Given the description of an element on the screen output the (x, y) to click on. 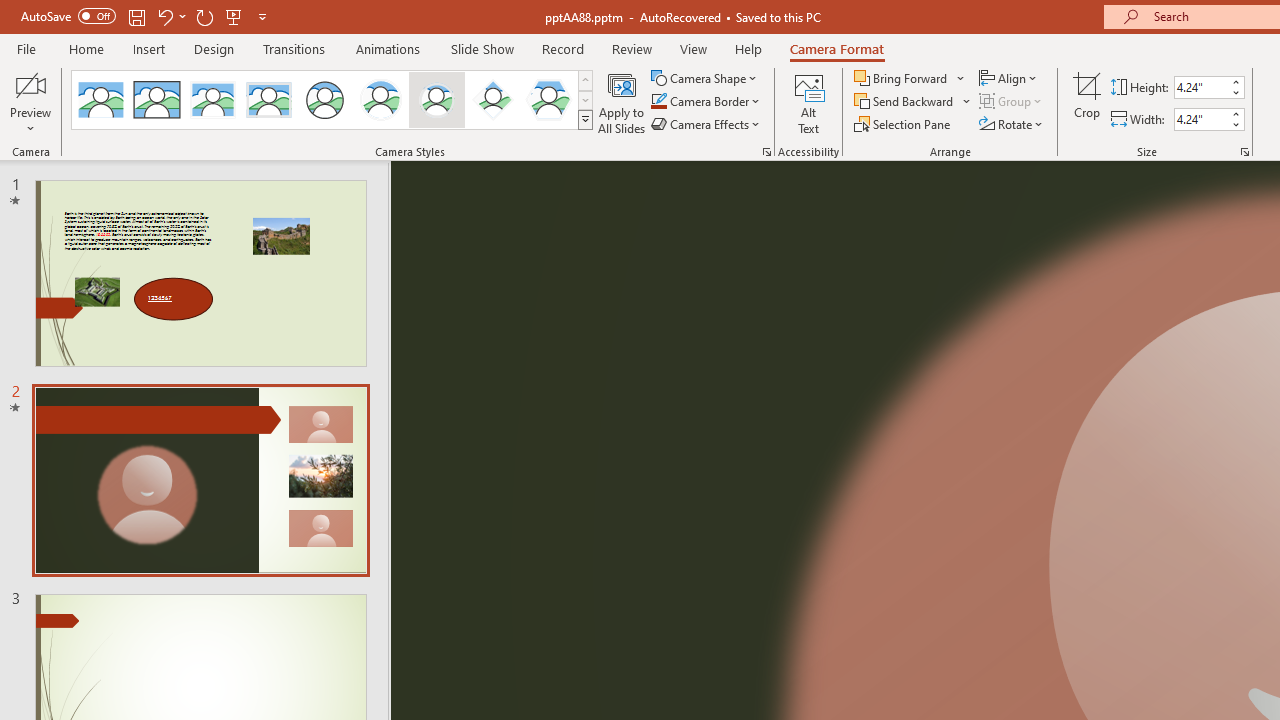
Send Backward (913, 101)
Center Shadow Circle (381, 100)
More (1235, 113)
Send Backward (905, 101)
Review (631, 48)
Camera Border Teal, Accent 1 (658, 101)
Transitions (294, 48)
Undo (170, 15)
More Options (967, 101)
Selection Pane... (904, 124)
From Beginning (234, 15)
File Tab (26, 48)
Crop (1087, 102)
Preview (30, 102)
System (10, 11)
